Given the description of an element on the screen output the (x, y) to click on. 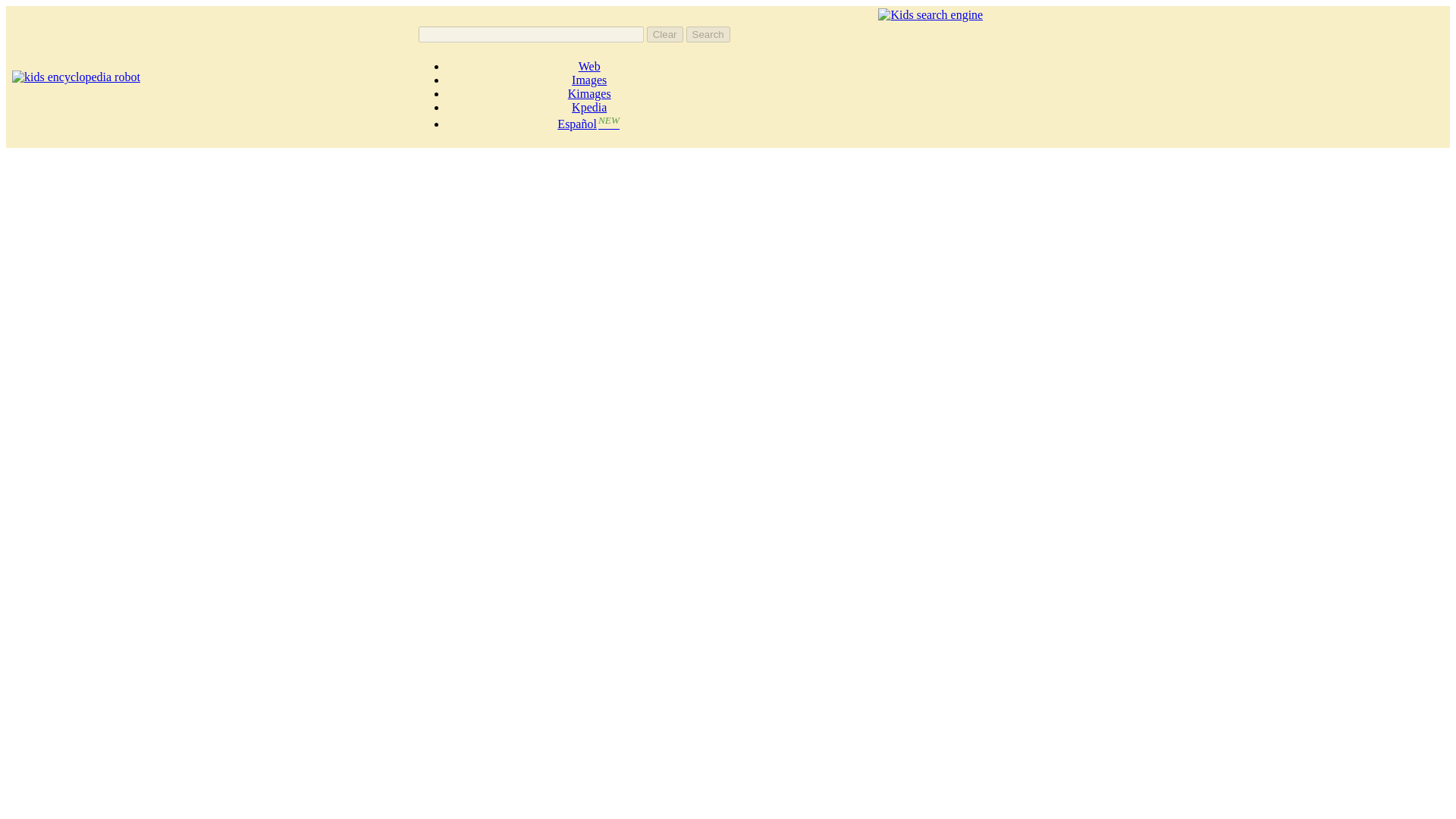
Web (588, 65)
Search (707, 34)
Kpedia (589, 106)
Clear (664, 34)
Images (589, 79)
Kimages (589, 92)
